Given the description of an element on the screen output the (x, y) to click on. 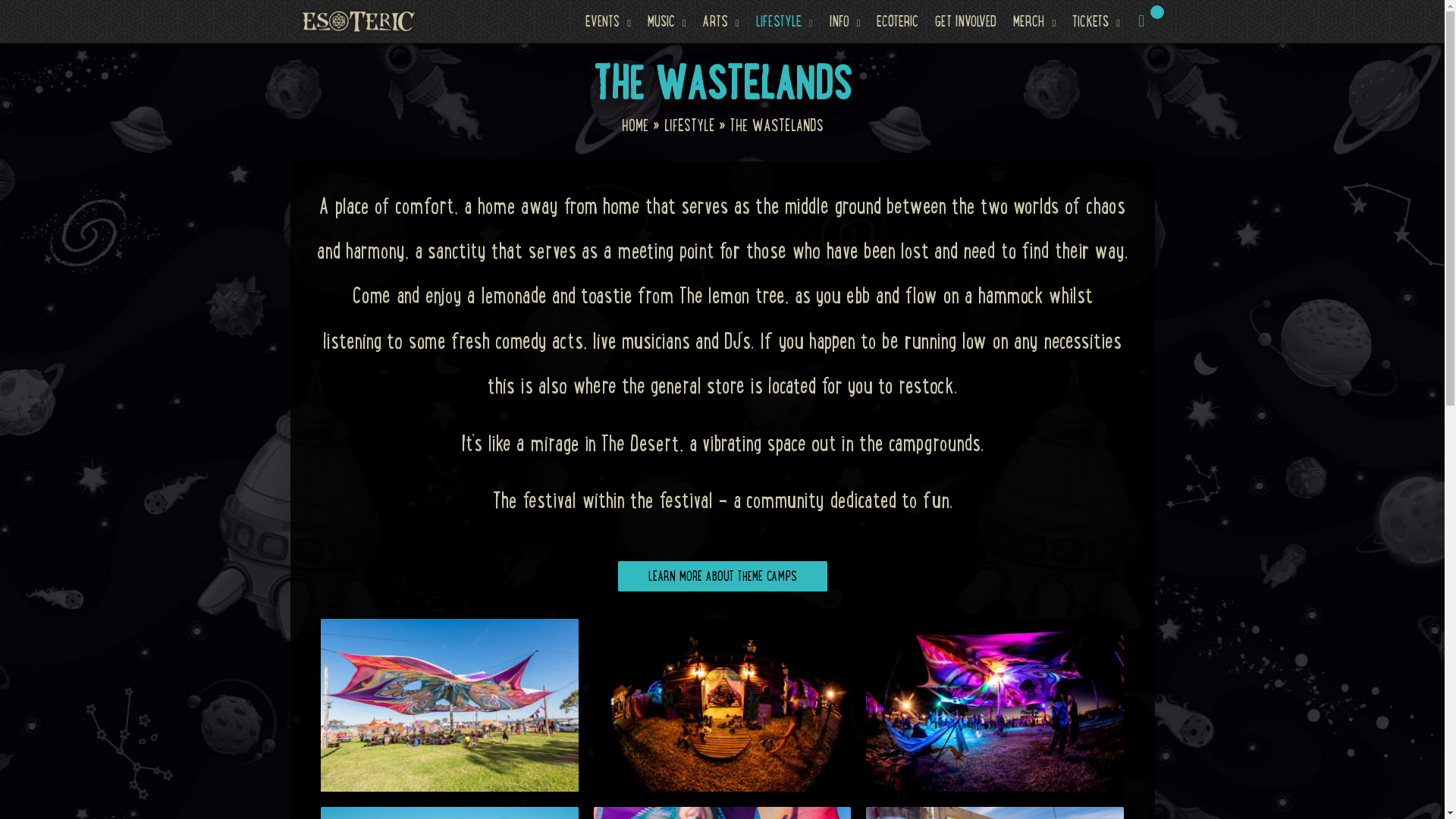
EVENTS Element type: text (608, 21)
ECOTERIC Element type: text (897, 21)
MERCH Element type: text (1033, 21)
LEARN MORE ABOUT THEME CAMPS Element type: text (721, 576)
MUSIC Element type: text (666, 21)
TICKETS Element type: text (1095, 21)
GET INVOLVED Element type: text (965, 21)
HOME Element type: text (634, 125)
LIFESTYLE Element type: text (689, 125)
ARTS Element type: text (720, 21)
INFO Element type: text (845, 21)
LIFESTYLE Element type: text (784, 21)
